Given the description of an element on the screen output the (x, y) to click on. 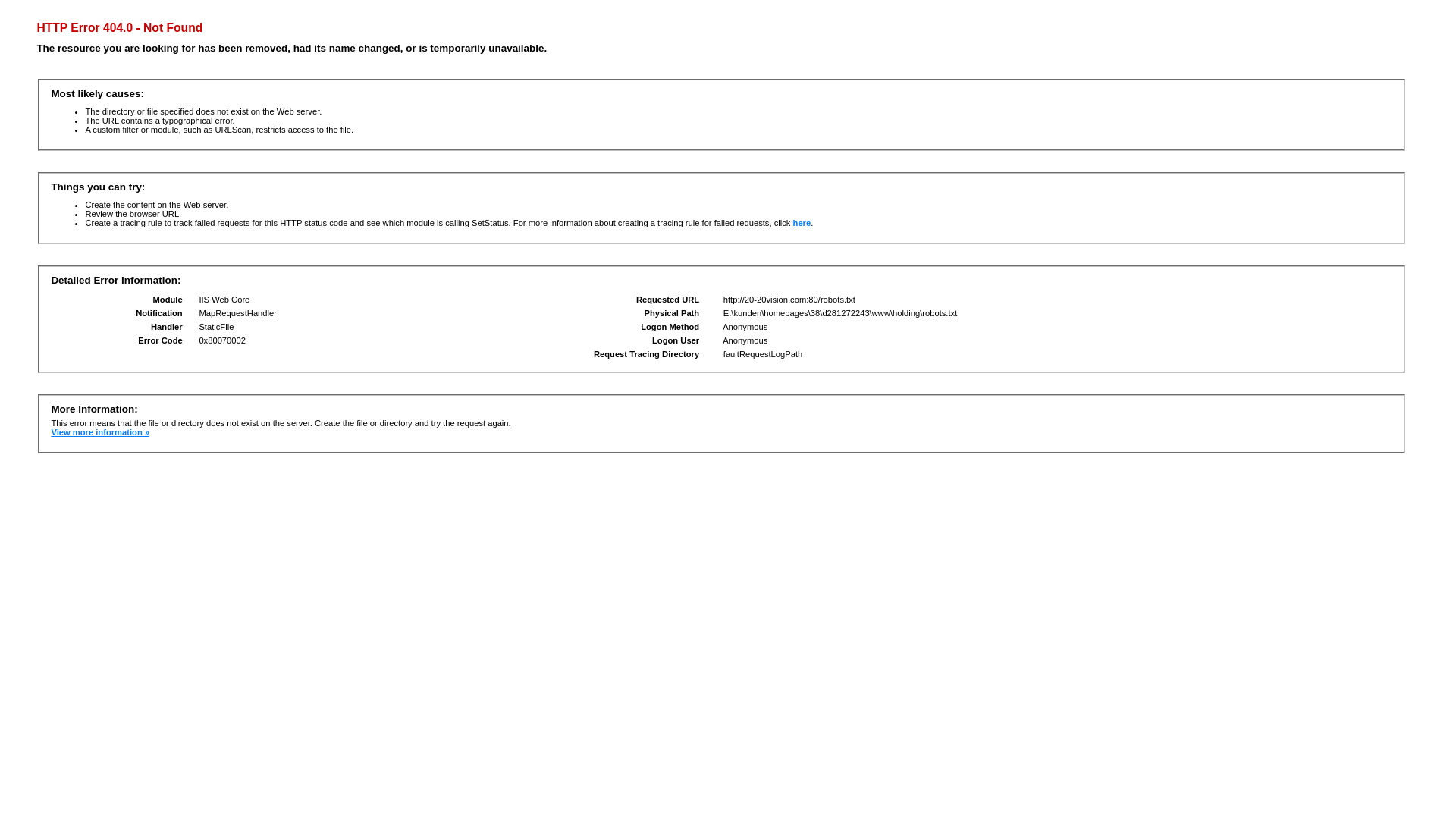
here Element type: text (802, 222)
